Given the description of an element on the screen output the (x, y) to click on. 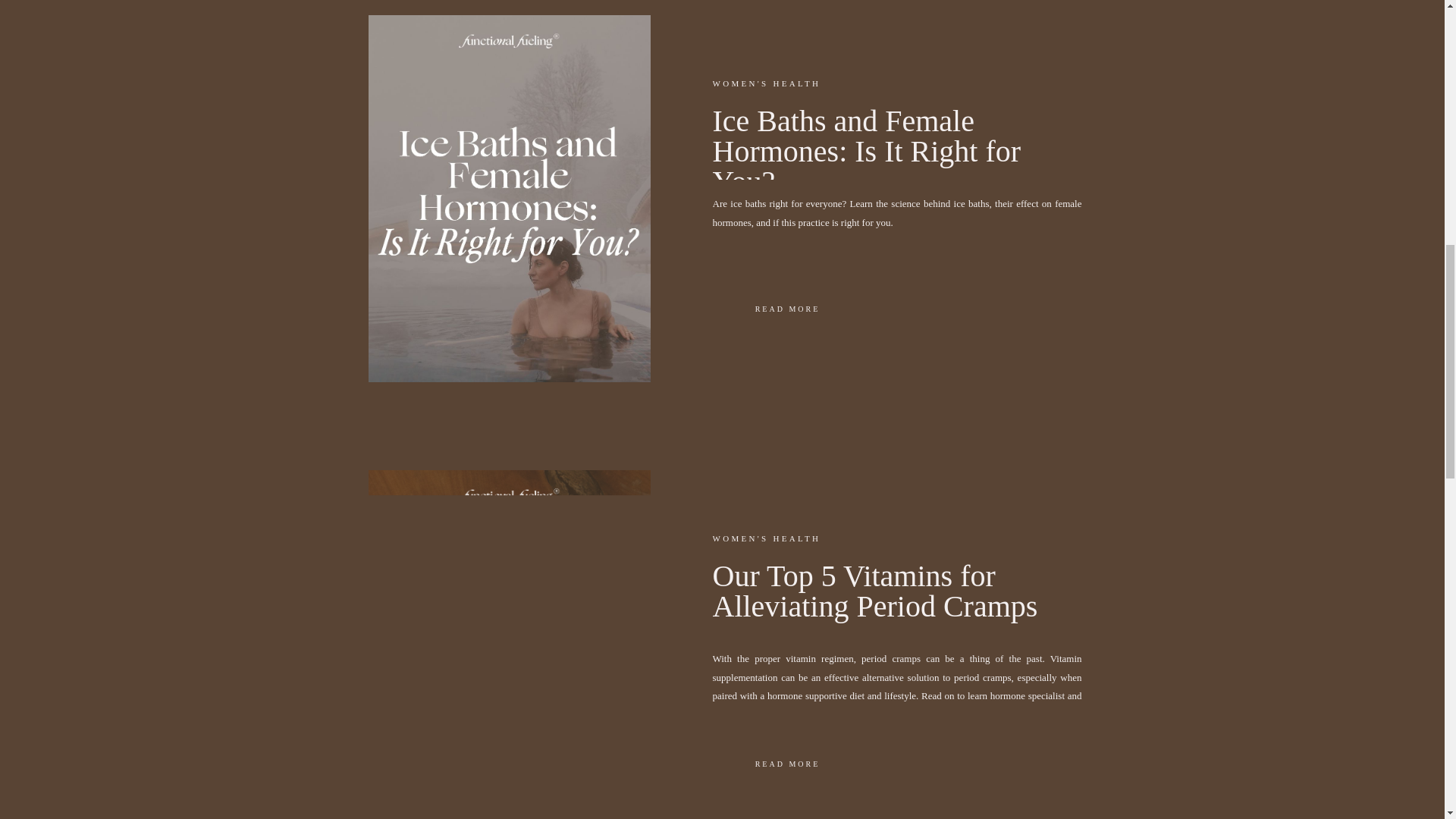
Ice Baths and Female Hormones: Is It Right for You? (867, 151)
READ MORE (788, 763)
READ MORE (788, 308)
WOMEN'S HEALTH (767, 82)
Our Top 5 Vitamins for Alleviating Period Cramps (788, 763)
Ice Baths and Female Hormones: Is It Right for You? (788, 308)
Our Top 5 Vitamins for Alleviating Period Cramps (875, 590)
WOMEN'S HEALTH (767, 537)
